Given the description of an element on the screen output the (x, y) to click on. 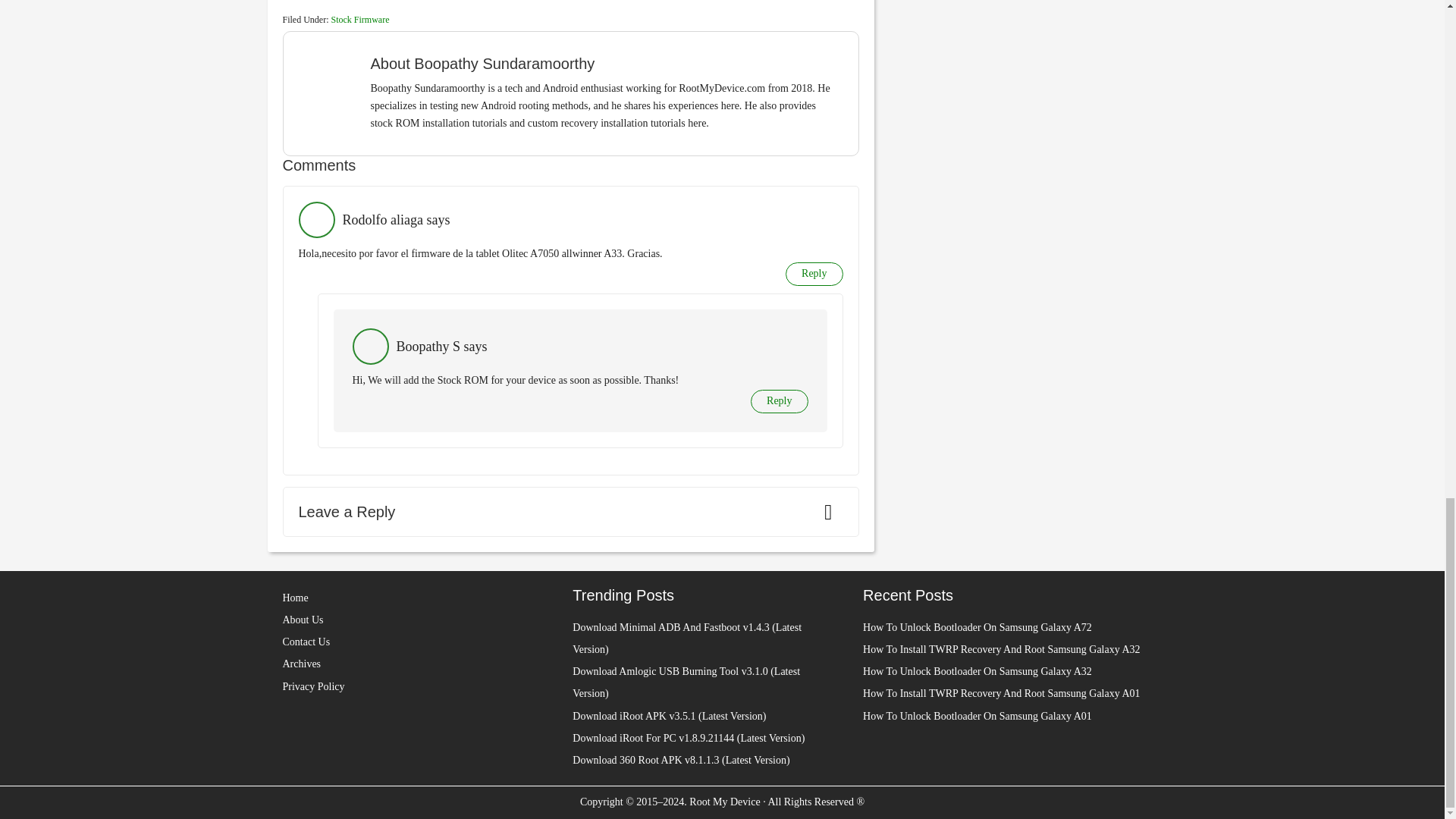
Stock Firmware (359, 19)
Gravatar for Boopathy Sundaramoorthy (332, 80)
Reply (814, 273)
Gravatar for Rodolfo aliaga (316, 219)
Gravatar for Boopathy S (370, 346)
